Given the description of an element on the screen output the (x, y) to click on. 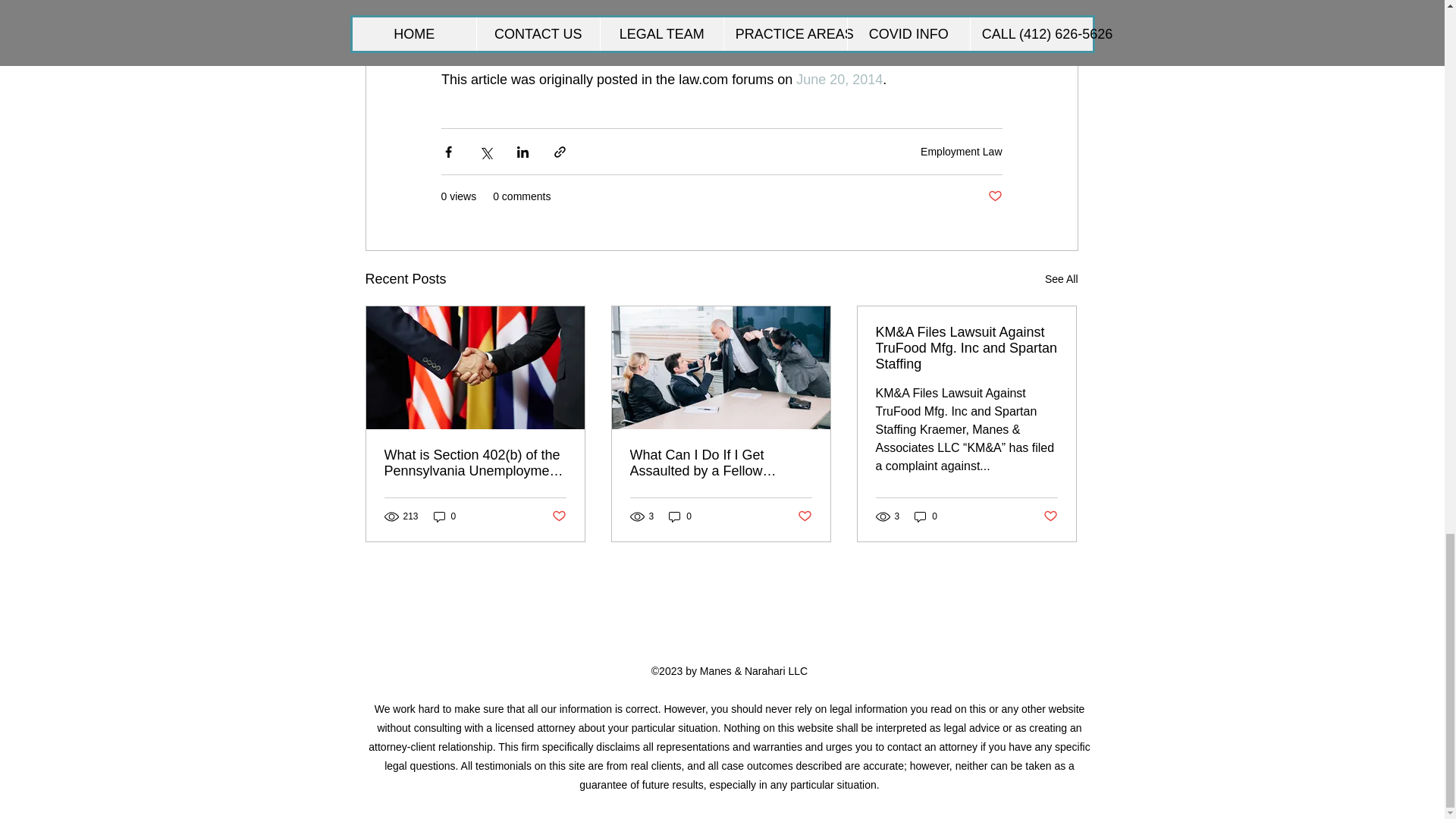
 June 20, 2014 (837, 79)
Employment Law (960, 150)
See All (1061, 279)
Post not marked as liked (994, 196)
